Given the description of an element on the screen output the (x, y) to click on. 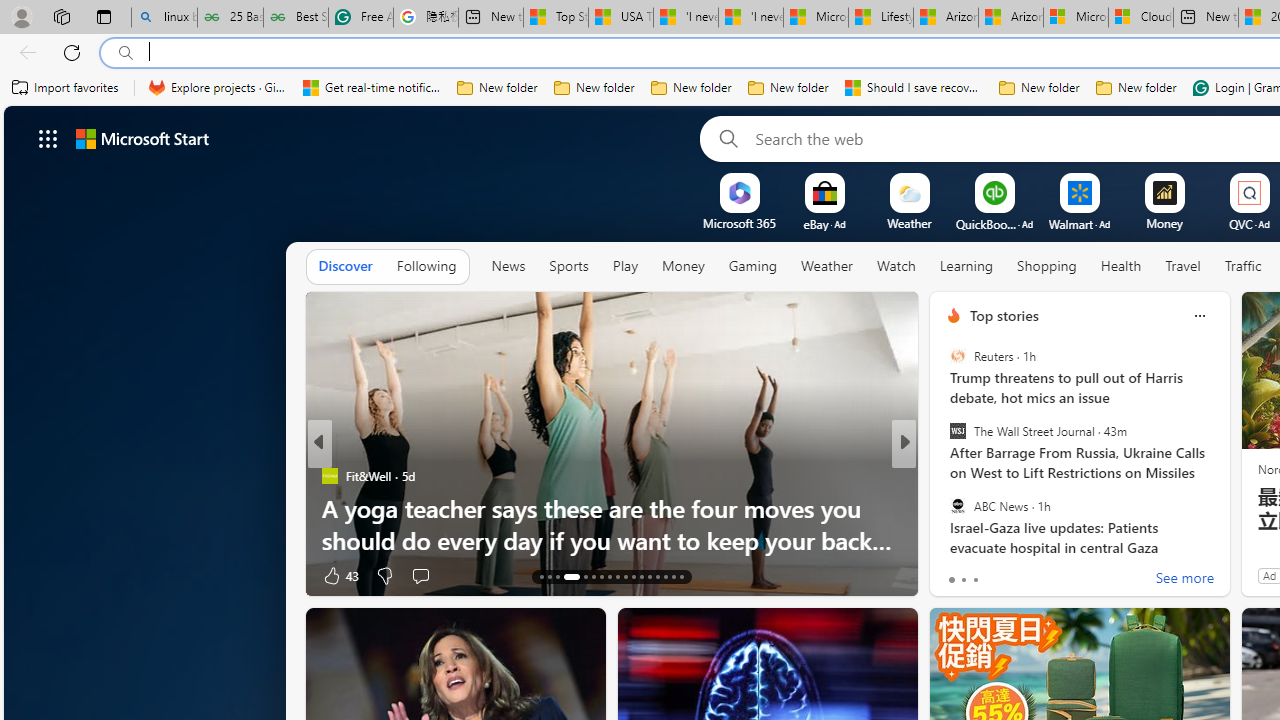
AutomationID: tab-29 (681, 576)
BGR (944, 475)
AutomationID: tab-18 (592, 576)
USA TODAY - MSN (620, 17)
View comments 1 Comment (1041, 574)
View comments 1 Comment (1036, 575)
linux basic - Search (164, 17)
Watch (895, 265)
Free AI Writing Assistance for Students | Grammarly (360, 17)
TODAY (944, 475)
Watch (896, 267)
View comments 2k Comment (1035, 575)
View comments 3 Comment (1036, 575)
AutomationID: tab-16 (571, 576)
